Given the description of an element on the screen output the (x, y) to click on. 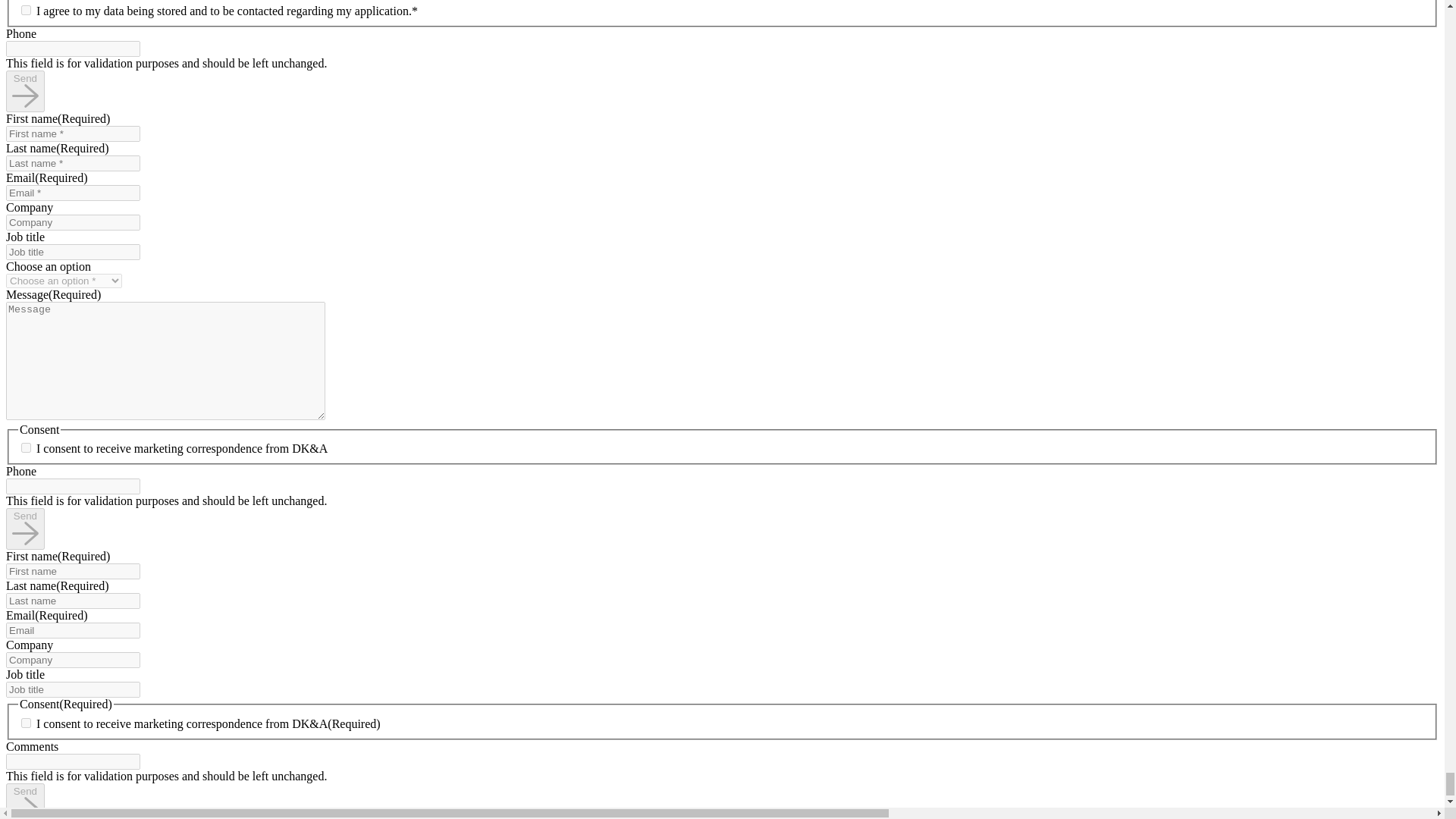
1 (25, 723)
1 (25, 9)
1 (25, 447)
